Given the description of an element on the screen output the (x, y) to click on. 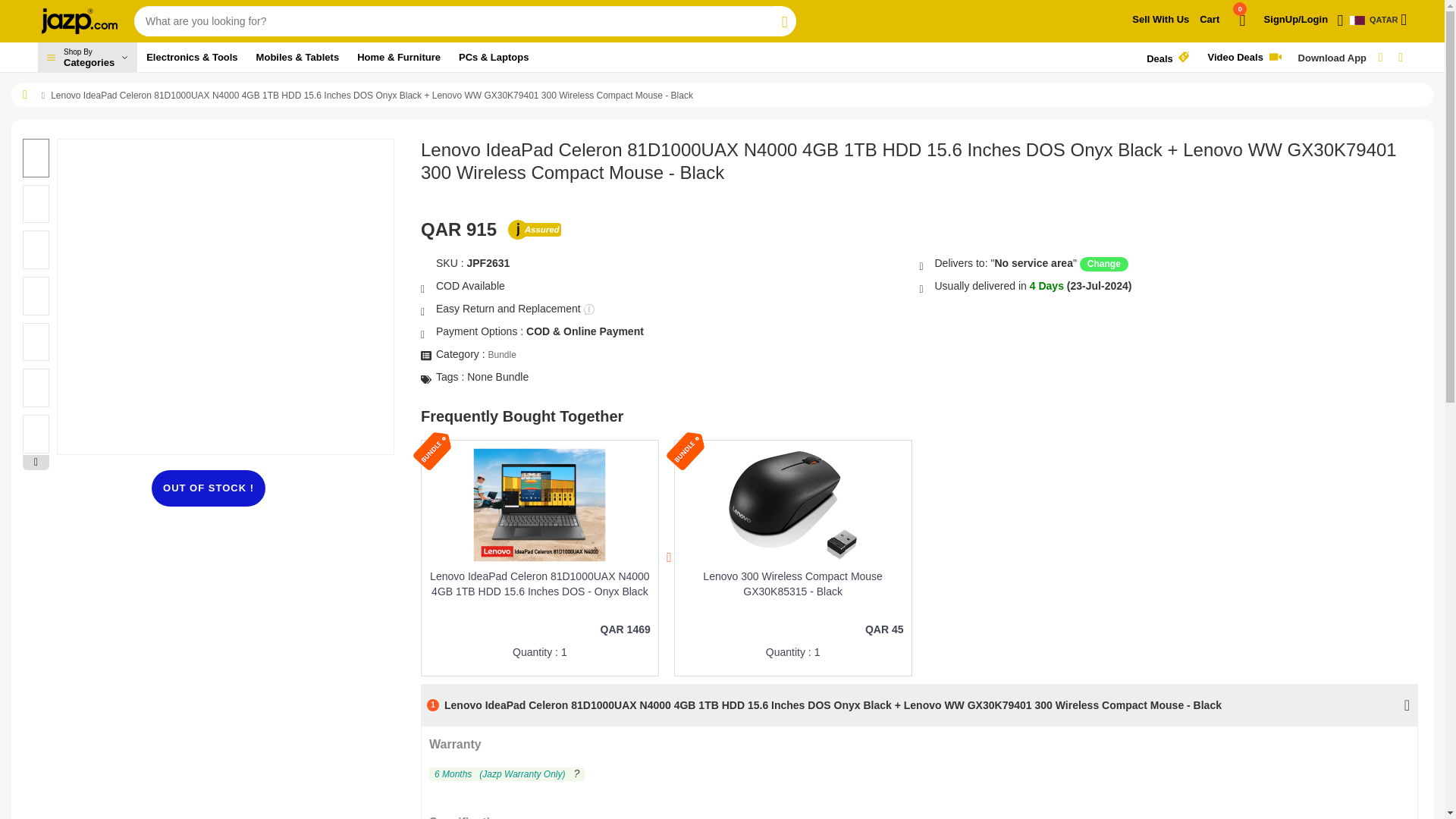
Shop By Categories (86, 57)
Sell With Us (1160, 19)
QATAR (1224, 25)
Video Deals (86, 57)
Deals (1377, 19)
